Given the description of an element on the screen output the (x, y) to click on. 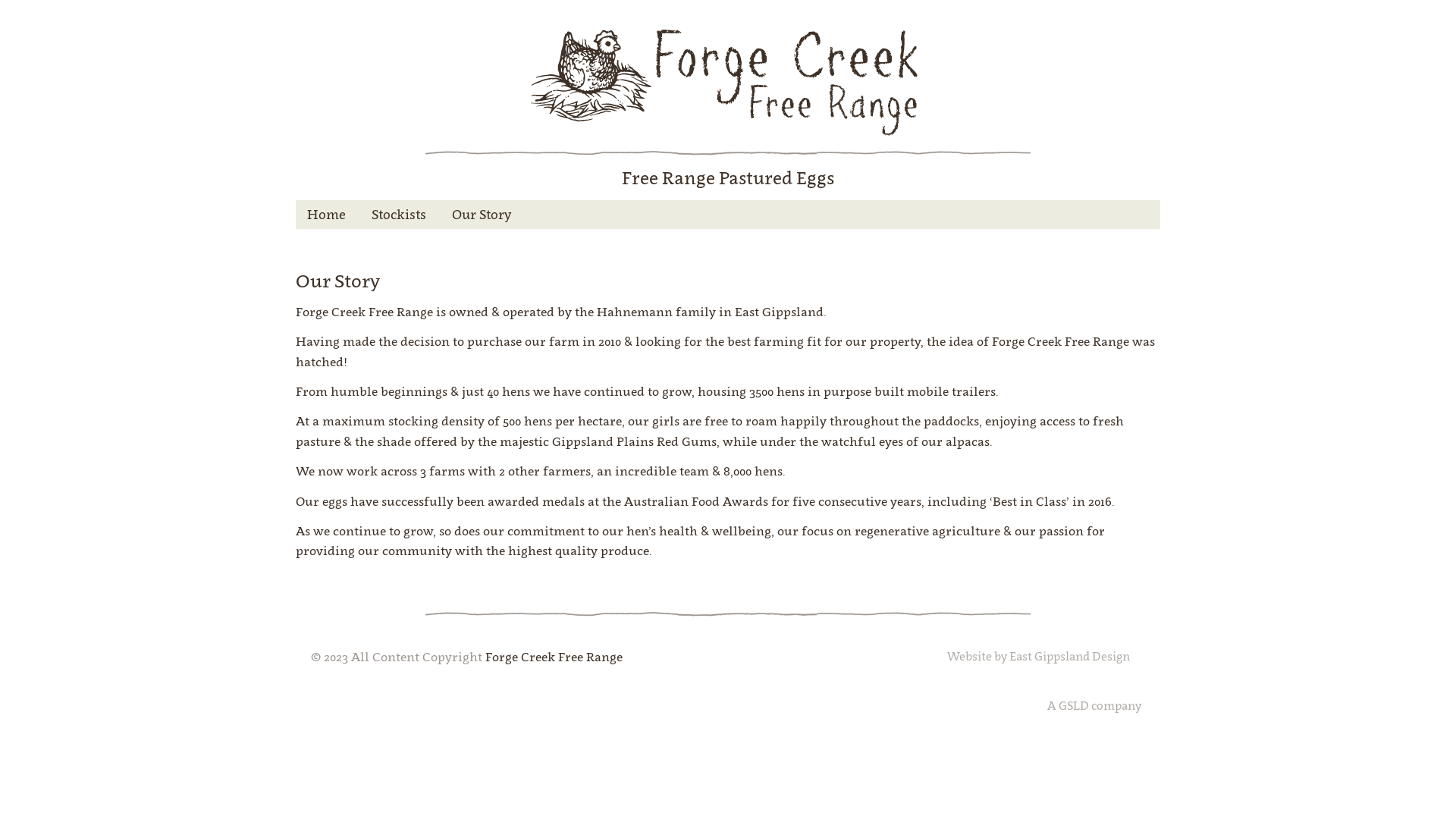
Website by East Gippsland Design Element type: text (1038, 655)
Home Element type: text (326, 214)
Our Story Element type: text (481, 214)
Stockists Element type: text (398, 214)
A GSLD company Element type: text (1093, 705)
